Given the description of an element on the screen output the (x, y) to click on. 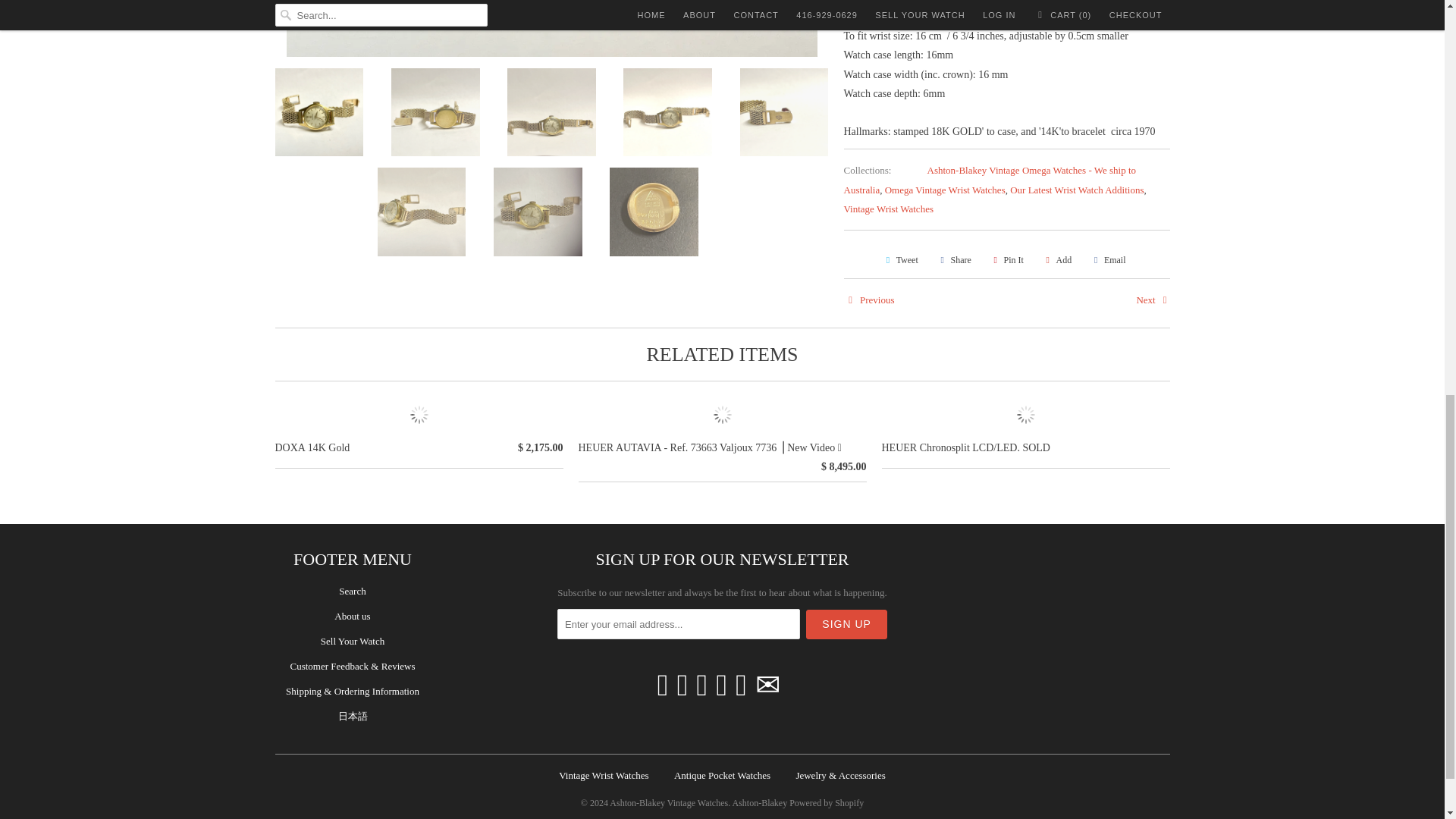
Sign Up (846, 624)
